Given the description of an element on the screen output the (x, y) to click on. 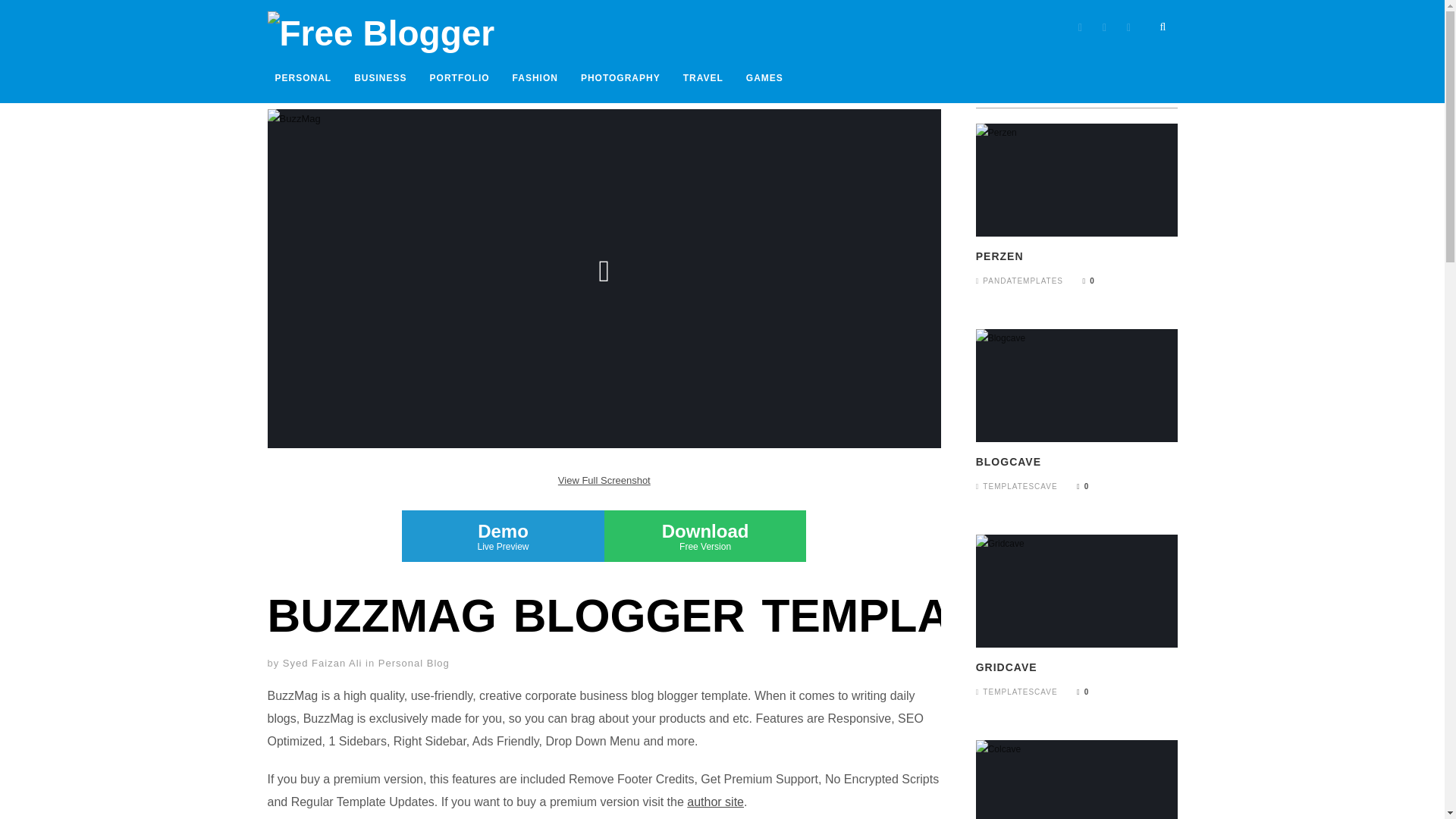
BUSINESS (379, 77)
PORTFOLIO (459, 77)
PERSONAL (302, 77)
FASHION (535, 77)
author site (715, 801)
Personal Blog (413, 663)
Search (502, 535)
View Full Screenshot (1162, 26)
Syed Faizan Ali (603, 480)
TRAVEL (322, 663)
GAMES (705, 535)
HOME (702, 77)
PHOTOGRAPHY (764, 77)
